Given the description of an element on the screen output the (x, y) to click on. 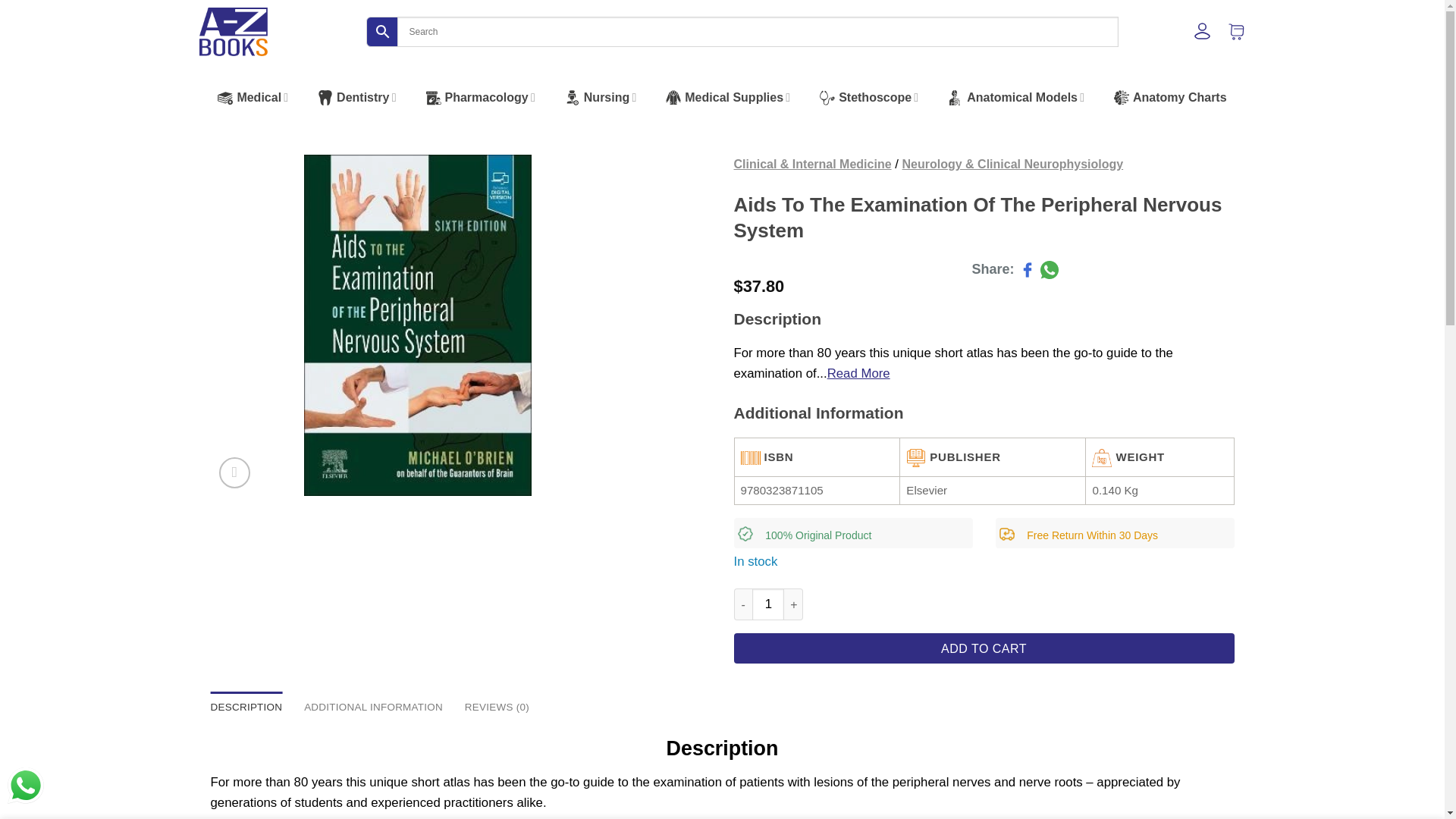
Zoom (234, 472)
1 (768, 603)
A-Z Bookstore - Largest Academic Bookstore in Malaysia (232, 31)
Medical (254, 97)
